Given the description of an element on the screen output the (x, y) to click on. 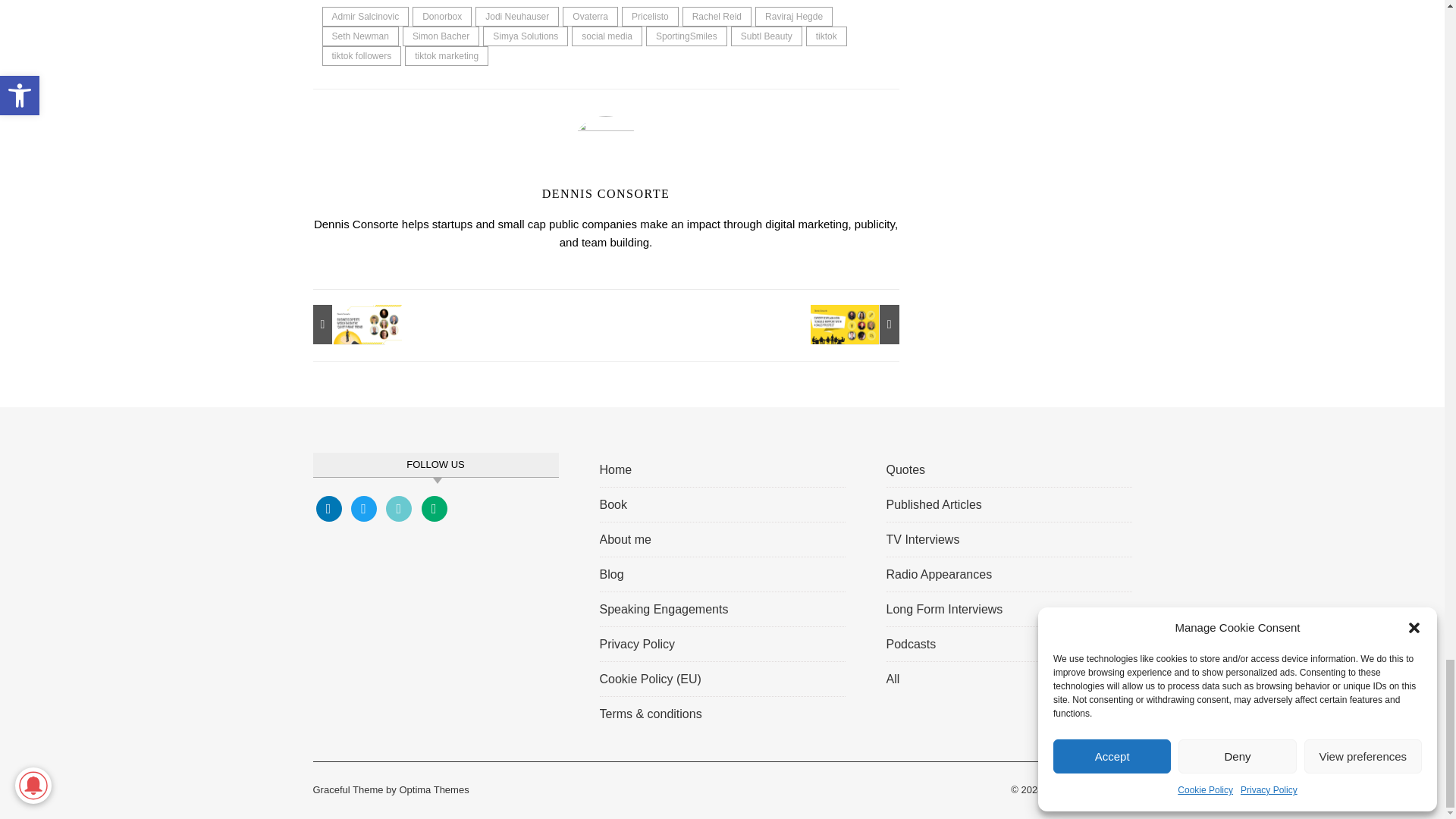
Facebook (327, 507)
Instagram (398, 507)
Posts by Dennis Consorte (605, 193)
11 Business Experts Weigh in on the 'Quiet Firing' Trend (346, 323)
Twitter (363, 507)
